Given the description of an element on the screen output the (x, y) to click on. 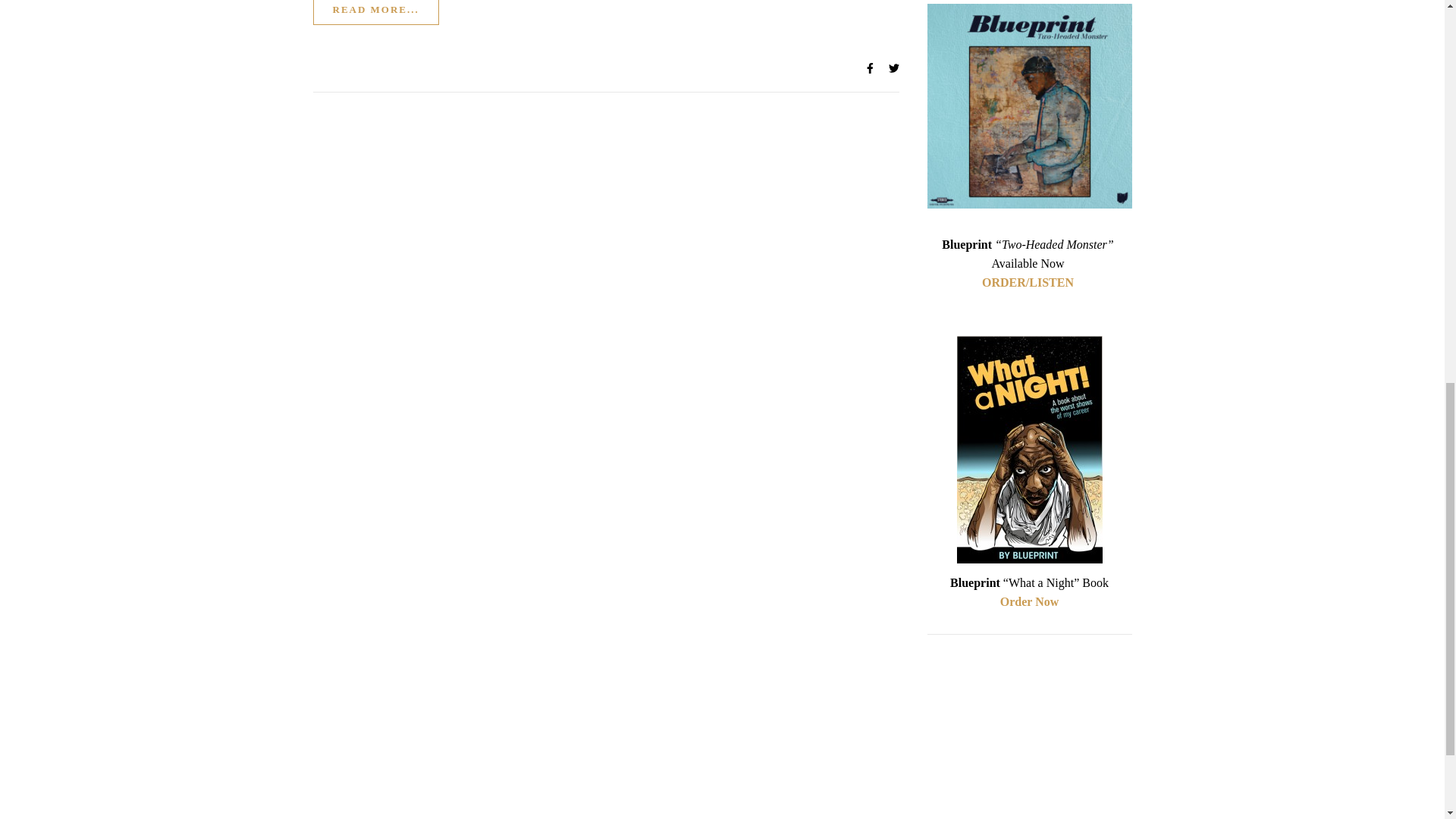
READ MORE... (375, 12)
